Given the description of an element on the screen output the (x, y) to click on. 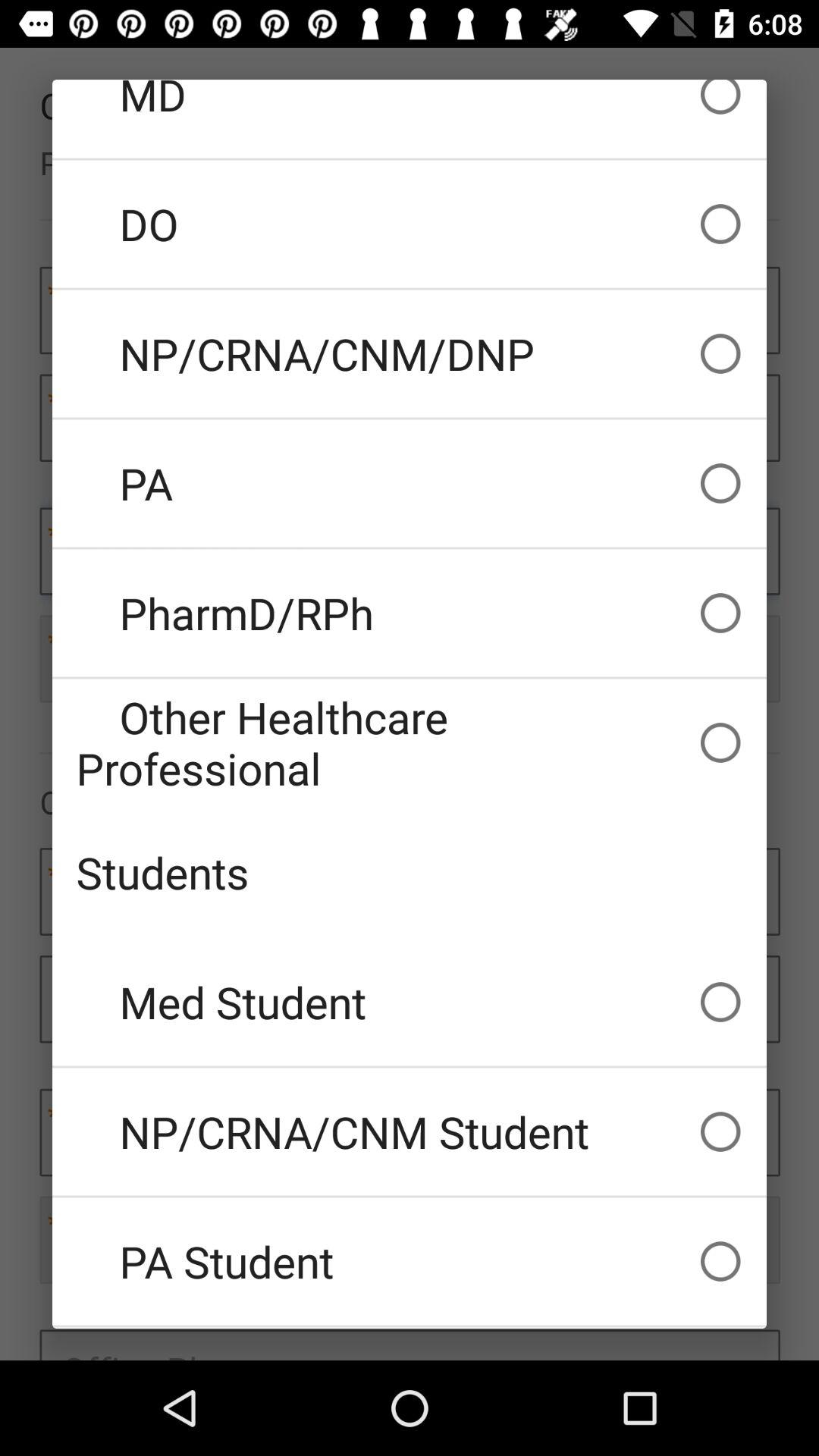
jump to pa student item (409, 1261)
